Given the description of an element on the screen output the (x, y) to click on. 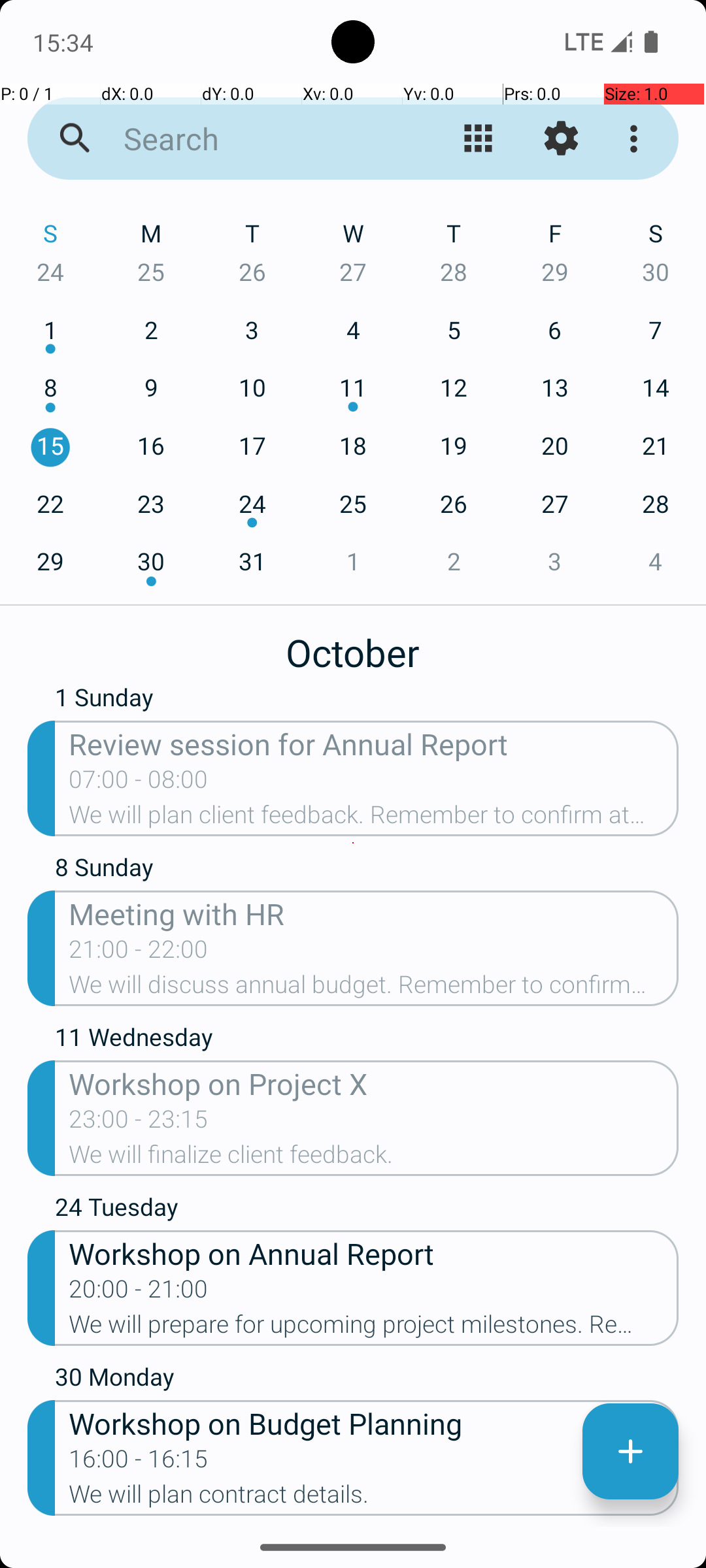
1 Sunday Element type: android.widget.TextView (366, 702)
8 Sunday Element type: android.widget.TextView (366, 869)
11 Wednesday Element type: android.widget.TextView (366, 1039)
24 Tuesday Element type: android.widget.TextView (366, 1209)
30 Monday Element type: android.widget.TextView (366, 1379)
Review session for Annual Report Element type: android.widget.TextView (373, 742)
07:00 - 08:00 Element type: android.widget.TextView (137, 782)
We will plan client feedback. Remember to confirm attendance. Element type: android.widget.TextView (373, 818)
21:00 - 22:00 Element type: android.widget.TextView (137, 952)
We will discuss annual budget. Remember to confirm attendance. Element type: android.widget.TextView (373, 988)
Workshop on Project X Element type: android.widget.TextView (373, 1082)
23:00 - 23:15 Element type: android.widget.TextView (137, 1122)
We will finalize client feedback. Element type: android.widget.TextView (373, 1158)
20:00 - 21:00 Element type: android.widget.TextView (137, 1292)
We will prepare for upcoming project milestones. Remember to confirm attendance. Element type: android.widget.TextView (373, 1327)
Workshop on Budget Planning Element type: android.widget.TextView (373, 1422)
16:00 - 16:15 Element type: android.widget.TextView (137, 1462)
We will plan contract details. Element type: android.widget.TextView (373, 1497)
